Given the description of an element on the screen output the (x, y) to click on. 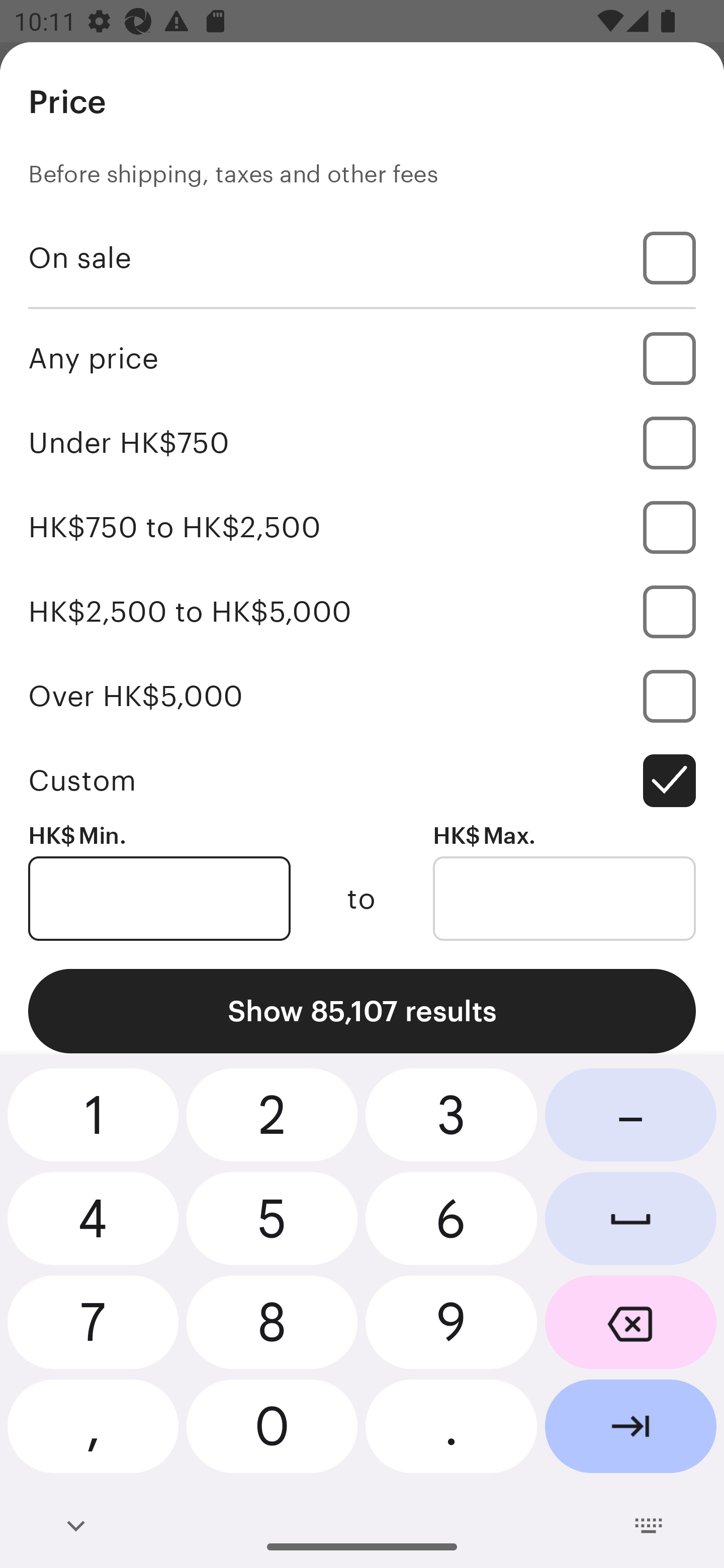
On sale (362, 257)
Any price (362, 357)
Under HK$750 (362, 441)
HK$750 to HK$2,500 (362, 526)
HK$2,500 to HK$5,000 (362, 611)
Over HK$5,000 (362, 695)
Custom (362, 780)
Show 85,107 results (361, 1011)
